Given the description of an element on the screen output the (x, y) to click on. 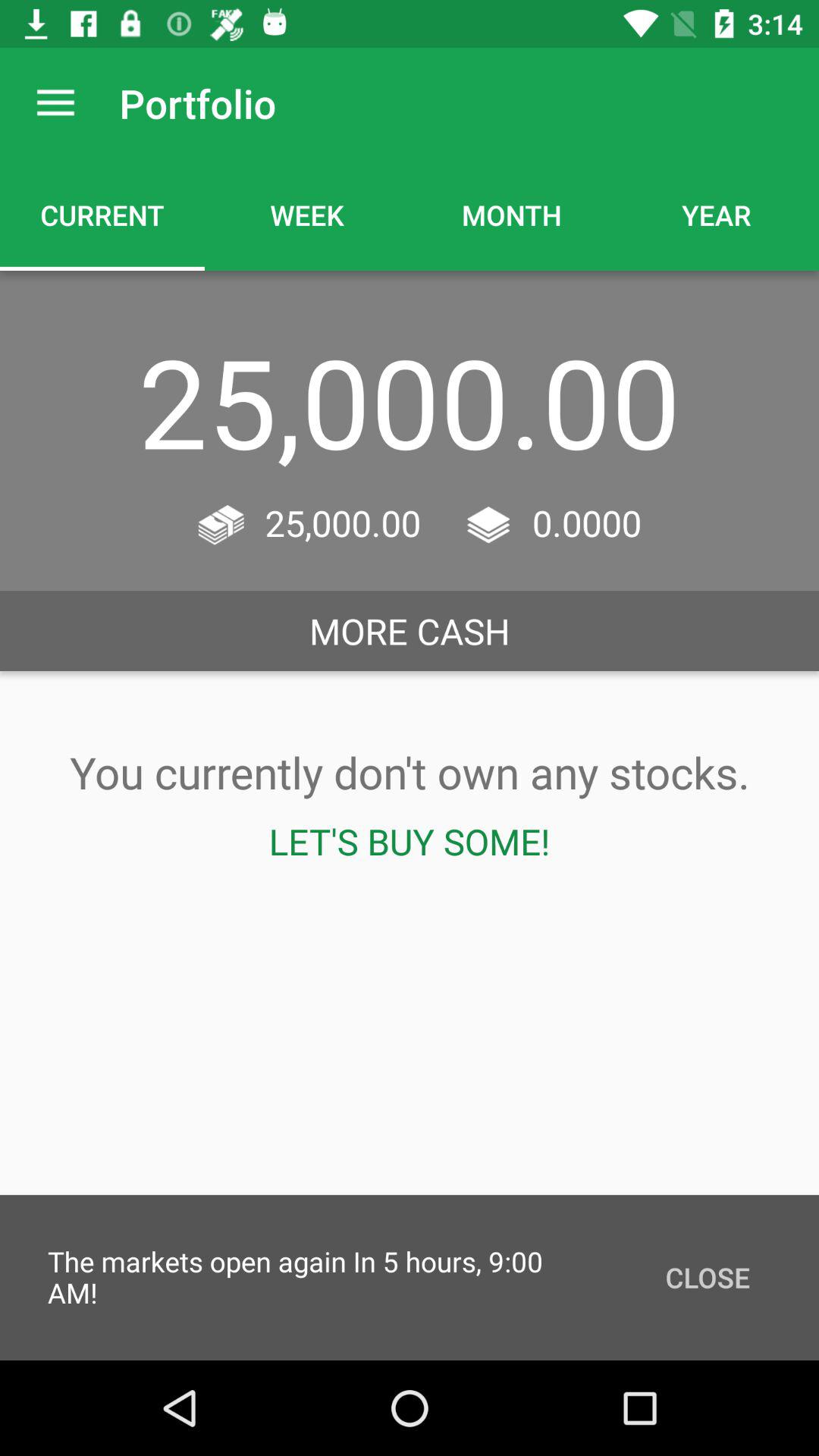
choose the item to the right of the markets open icon (707, 1277)
